Given the description of an element on the screen output the (x, y) to click on. 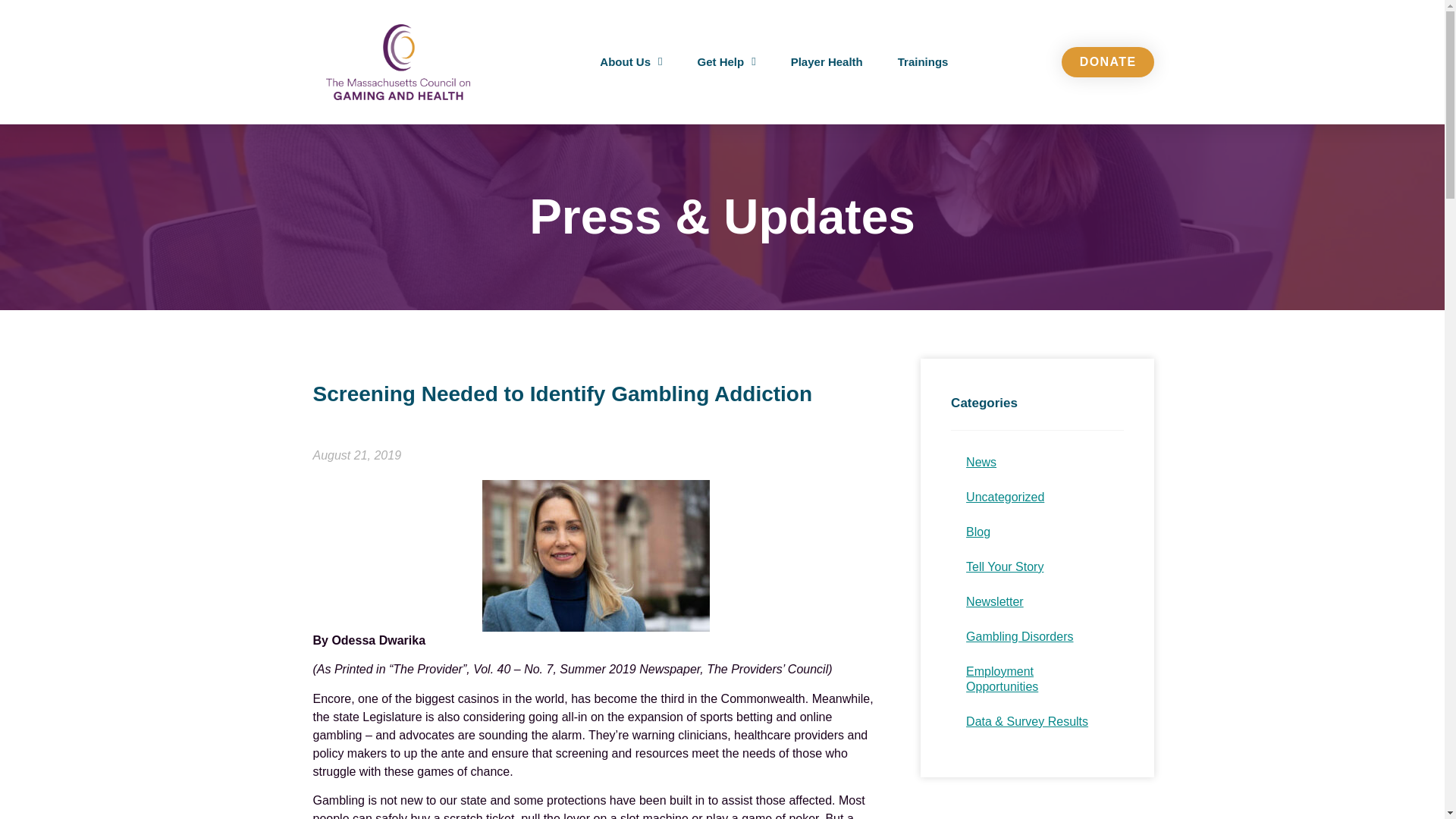
About Us (631, 62)
Trainings (922, 62)
DONATE (1107, 61)
Get Help (726, 62)
Player Health (826, 62)
